Given the description of an element on the screen output the (x, y) to click on. 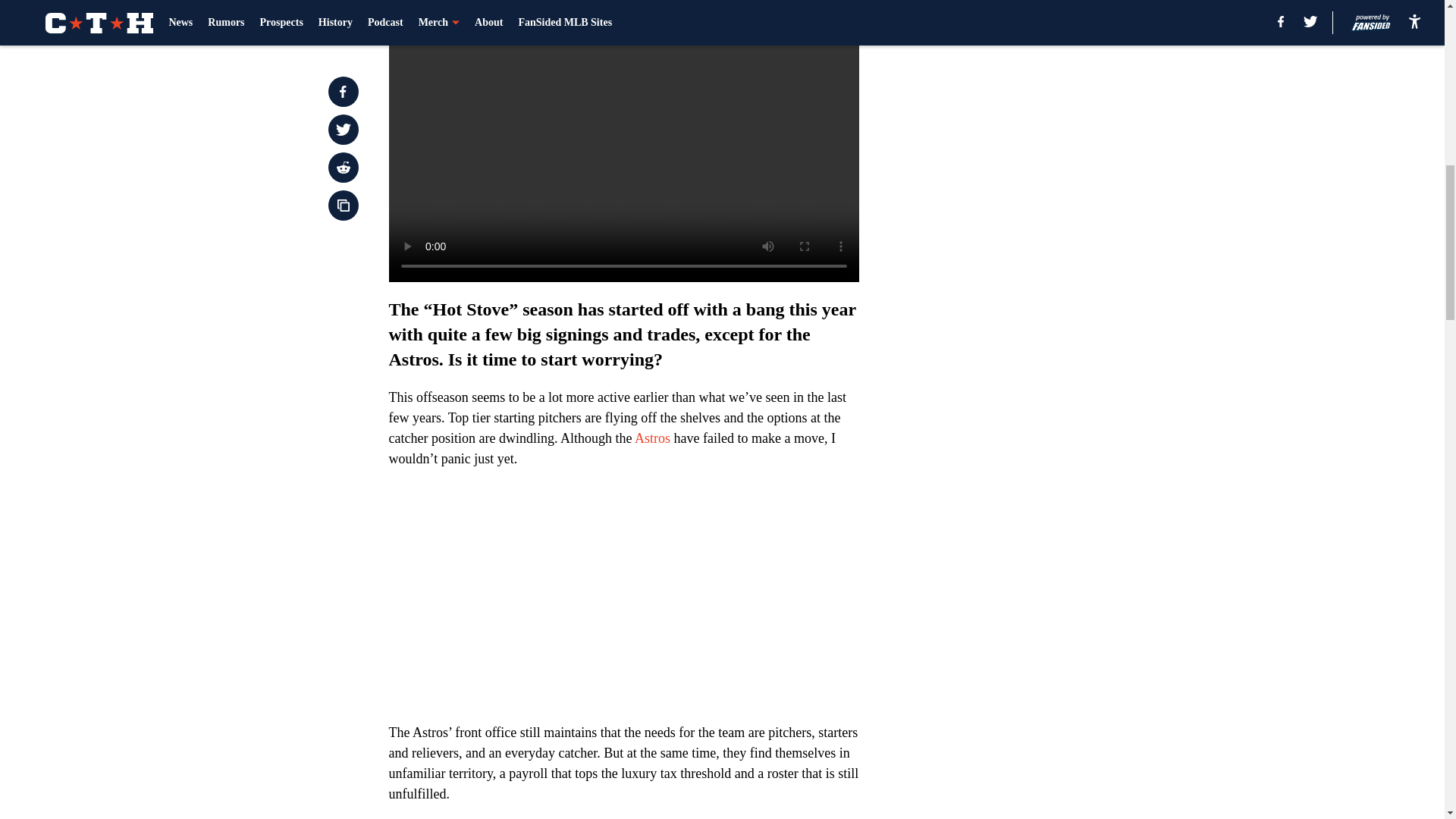
3rd party ad content (1047, 113)
3rd party ad content (1047, 332)
Astros (651, 437)
